Given the description of an element on the screen output the (x, y) to click on. 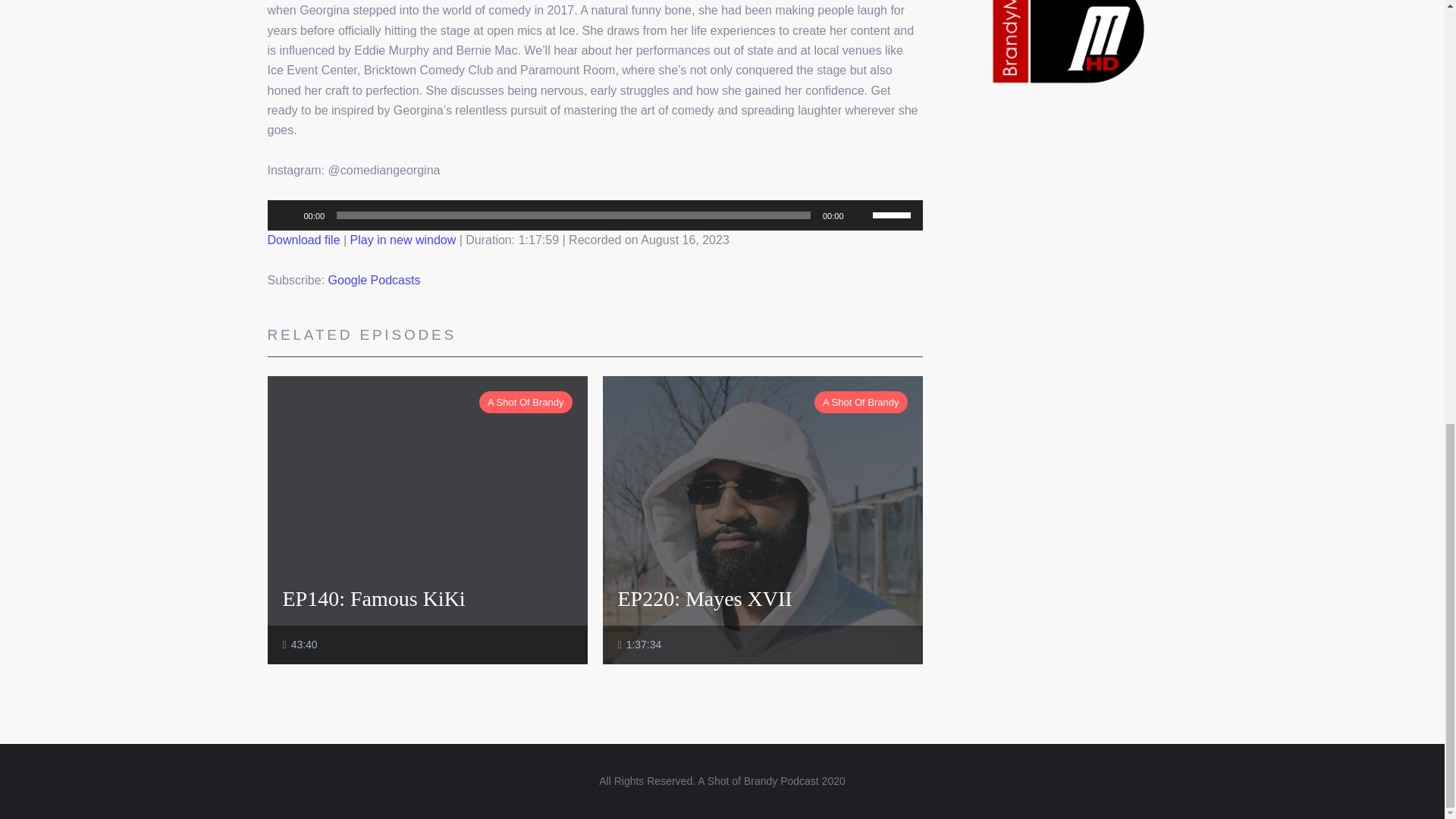
Play (286, 215)
EP240: Georgina Adjaye  (302, 239)
Mute (859, 215)
EP240: Georgina Adjaye  (403, 239)
Google Podcasts (374, 279)
